Given the description of an element on the screen output the (x, y) to click on. 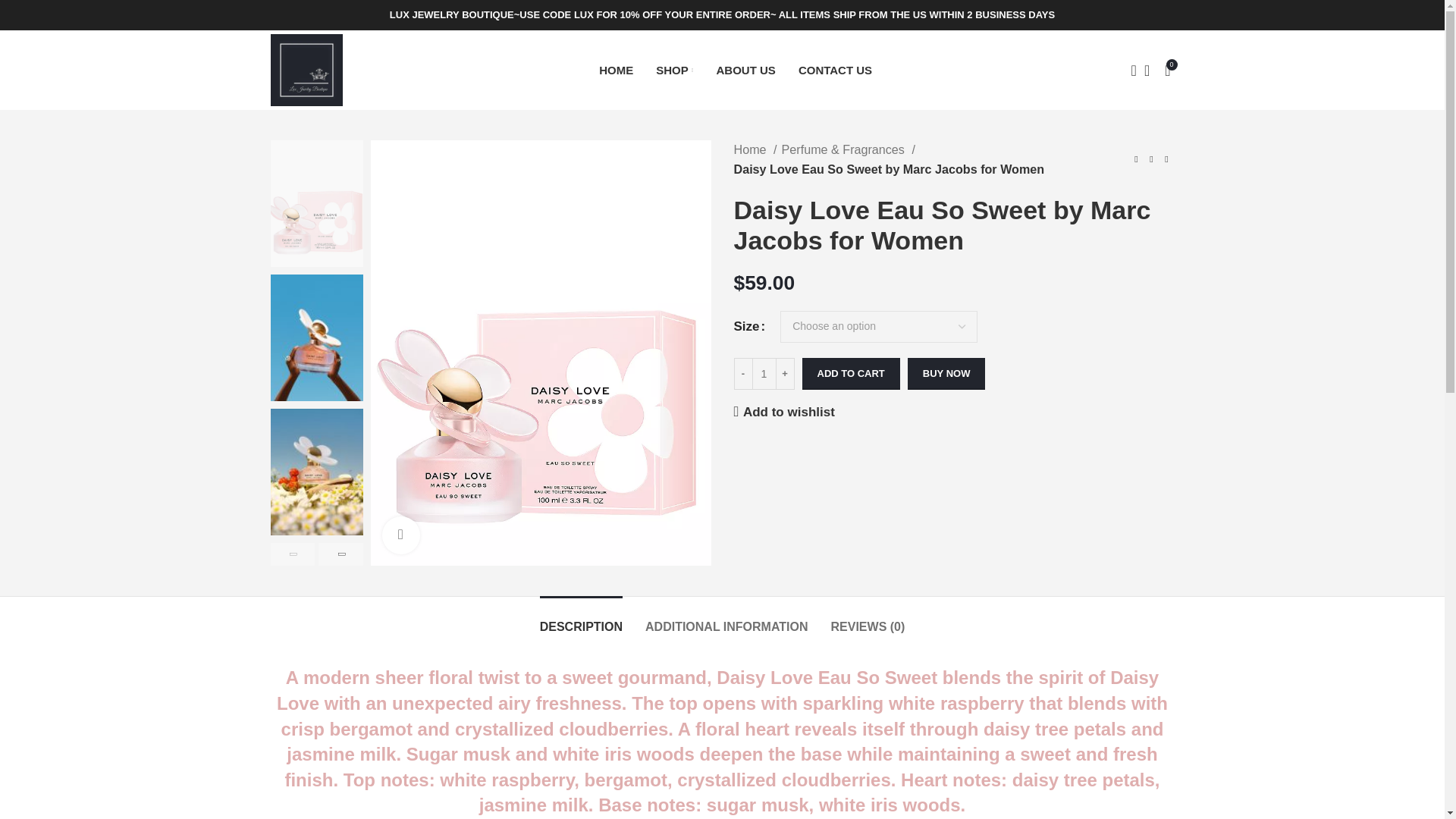
Add to wishlist (783, 411)
HOME (615, 69)
DESCRIPTION (581, 619)
Home (755, 149)
ADD TO CART (850, 373)
ABOUT US (746, 69)
CONTACT US (834, 69)
BUY NOW (946, 373)
SHOP (674, 69)
ADDITIONAL INFORMATION (726, 619)
